Given the description of an element on the screen output the (x, y) to click on. 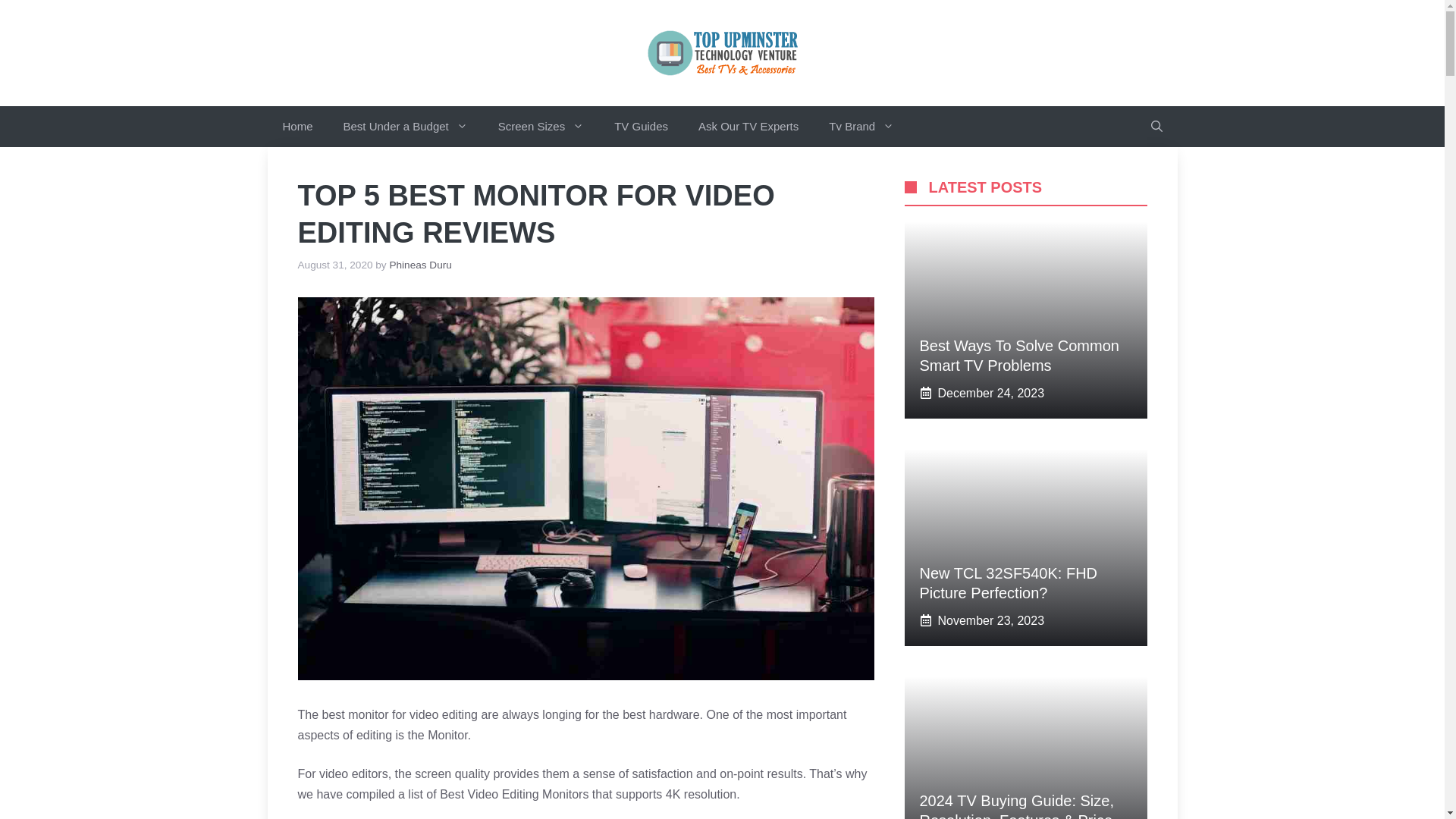
Best Under a Budget (406, 126)
View all posts by Phineas Duru (419, 265)
Screen Sizes (540, 126)
TV Guides (640, 126)
Tv Brand (860, 126)
Ask Our TV Experts (747, 126)
Home (296, 126)
